Given the description of an element on the screen output the (x, y) to click on. 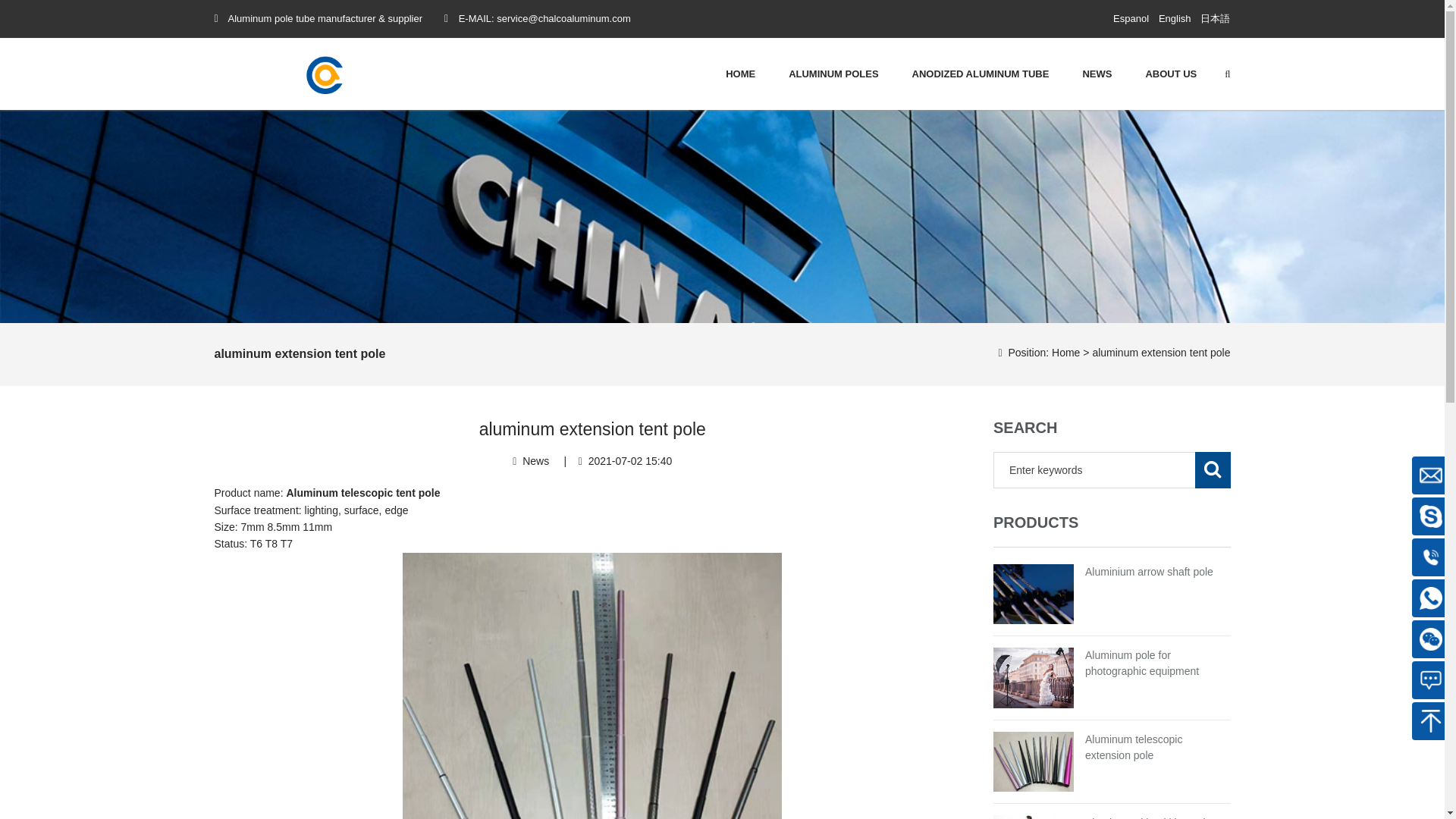
ANODIZED ALUMINUM TUBE (981, 73)
HOME (740, 73)
Aluminum ski trekking poles (1150, 817)
Aluminum telescopic extension pole tubing (1133, 747)
Espanol (1130, 19)
Aluminum telescopic extension pole (1133, 747)
Home (1065, 352)
NEWS (1096, 73)
ALUMINUM POLES (833, 73)
aluminum extension tent pole (1161, 352)
Aluminum ski trekking poles tube (1150, 817)
ABOUT US (1171, 73)
Aluminium arrow shaft pole (1148, 571)
News (535, 460)
